Given the description of an element on the screen output the (x, y) to click on. 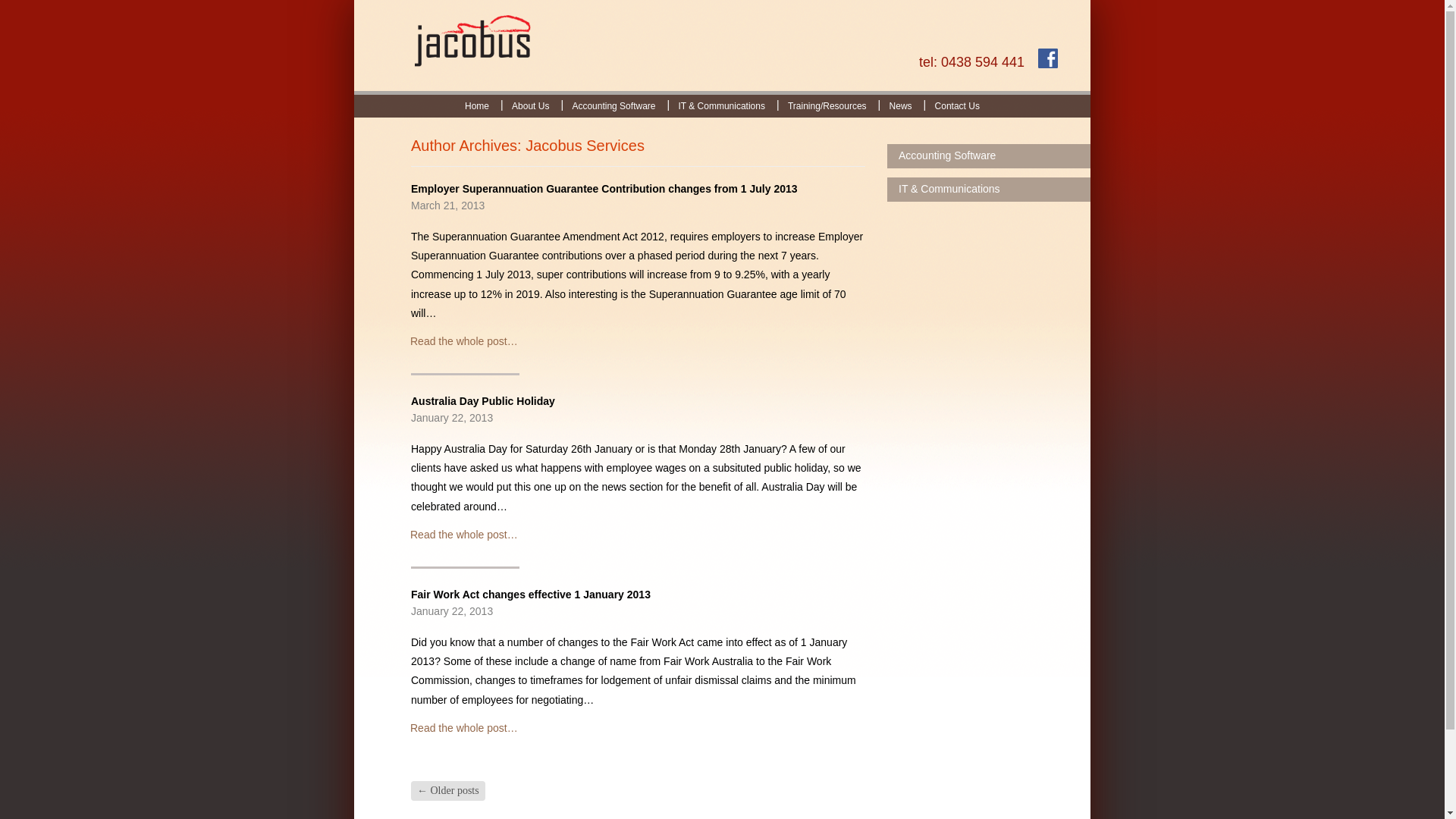
Home Element type: text (476, 105)
News Element type: text (900, 105)
IT & Communications Element type: text (988, 189)
Fair Work Act changes effective 1 January 2013 Element type: text (530, 594)
Training/Resources Element type: text (827, 105)
Australia Day Public Holiday Element type: text (483, 401)
Accounting Software Element type: text (613, 105)
Contact Us Element type: text (957, 105)
IT & Communications Element type: text (721, 105)
Accounting Software Element type: text (988, 156)
About Us Element type: text (530, 105)
